Given the description of an element on the screen output the (x, y) to click on. 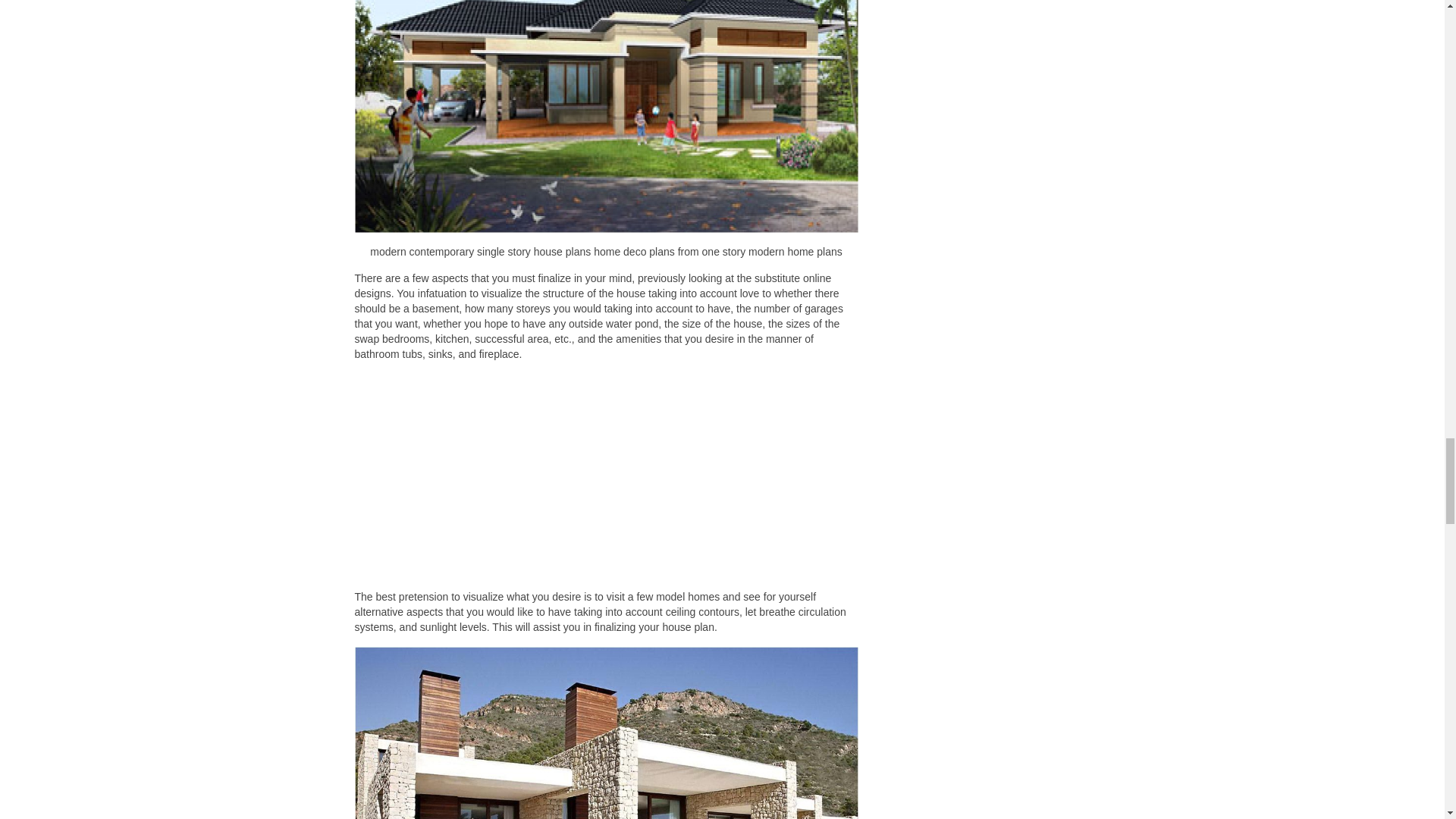
modern contemporary single story house plans home deco plans (607, 116)
very popular modern single storey house designs modern (607, 733)
